Given the description of an element on the screen output the (x, y) to click on. 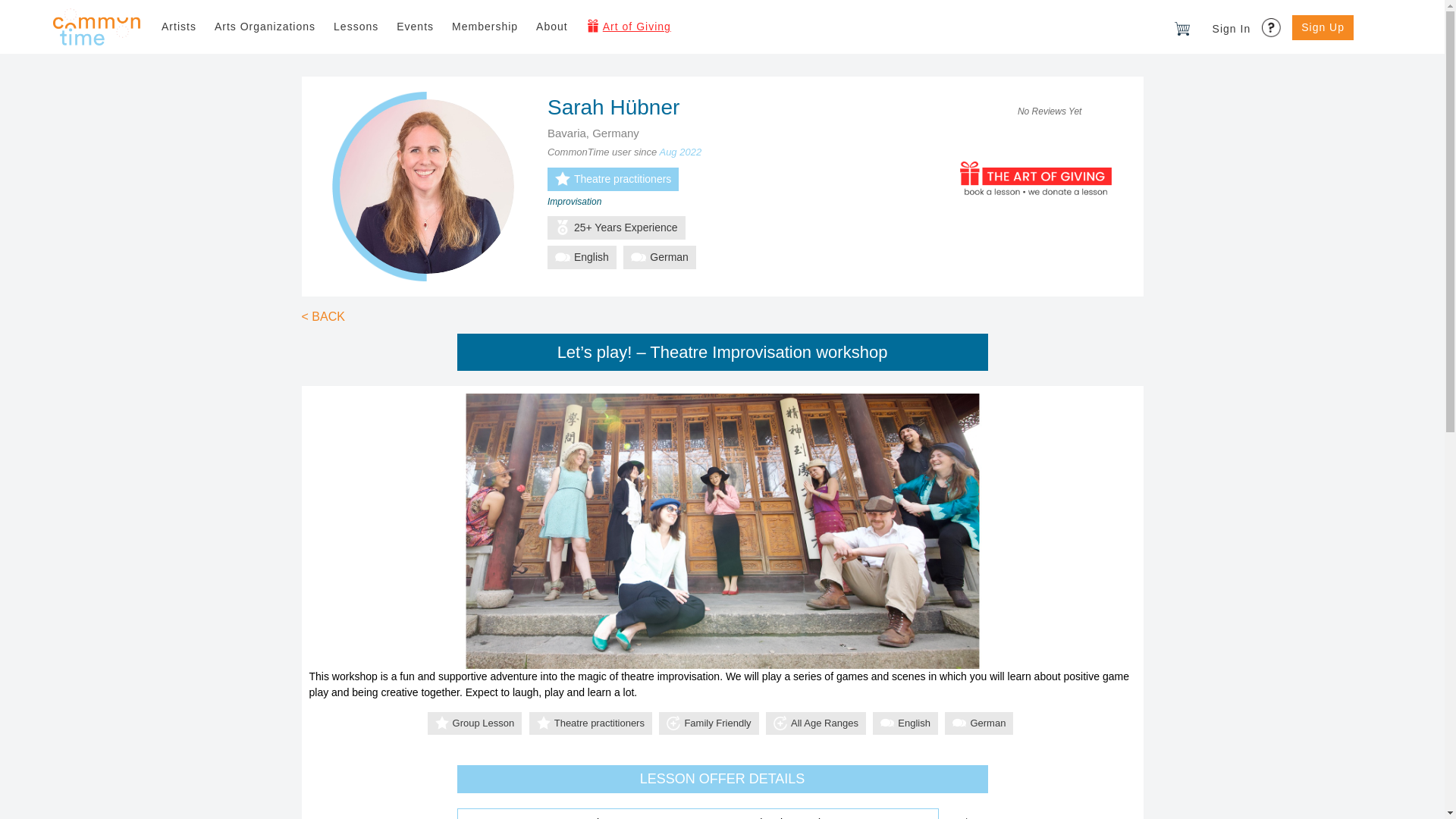
About (551, 26)
Sign Up (1323, 27)
Artists (178, 26)
Events (414, 26)
Art of Giving (627, 26)
Membership (484, 26)
Sign In (1231, 29)
FAQs (1273, 22)
Lessons (355, 26)
Arts Organizations (264, 26)
